Given the description of an element on the screen output the (x, y) to click on. 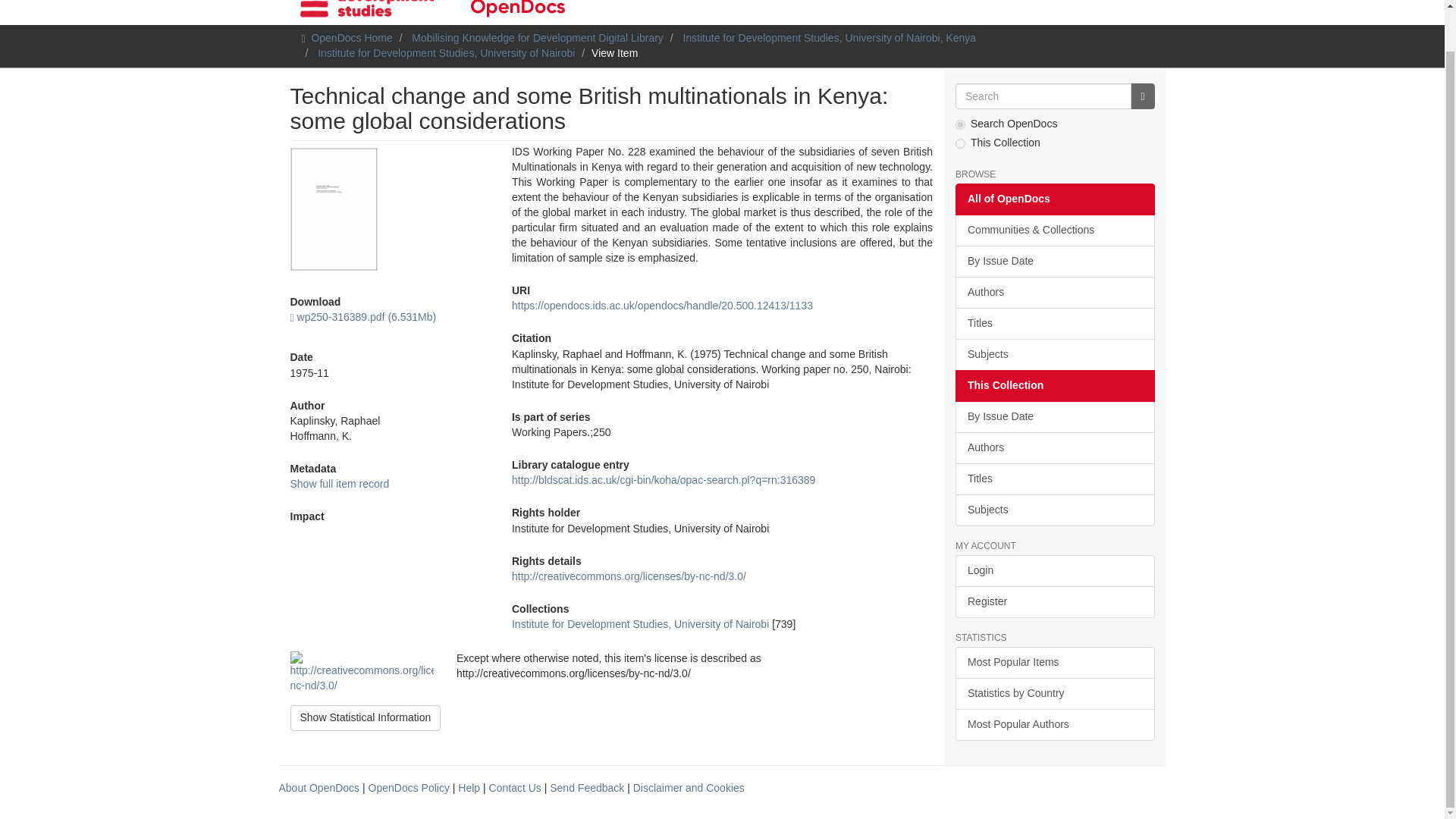
By Issue Date (1054, 417)
Show Statistical Information (365, 718)
This Collection (1054, 386)
Show full item record (338, 483)
Go (1142, 95)
Institute for Development Studies, University of Nairobi (640, 623)
Institute for Development Studies, University of Nairobi (446, 52)
By Issue Date (1054, 261)
Authors (1054, 448)
All of OpenDocs (1054, 199)
Mobilising Knowledge for Development Digital Library (537, 37)
OpenDocs Home (351, 37)
Subjects (1054, 355)
Titles (1054, 323)
